Given the description of an element on the screen output the (x, y) to click on. 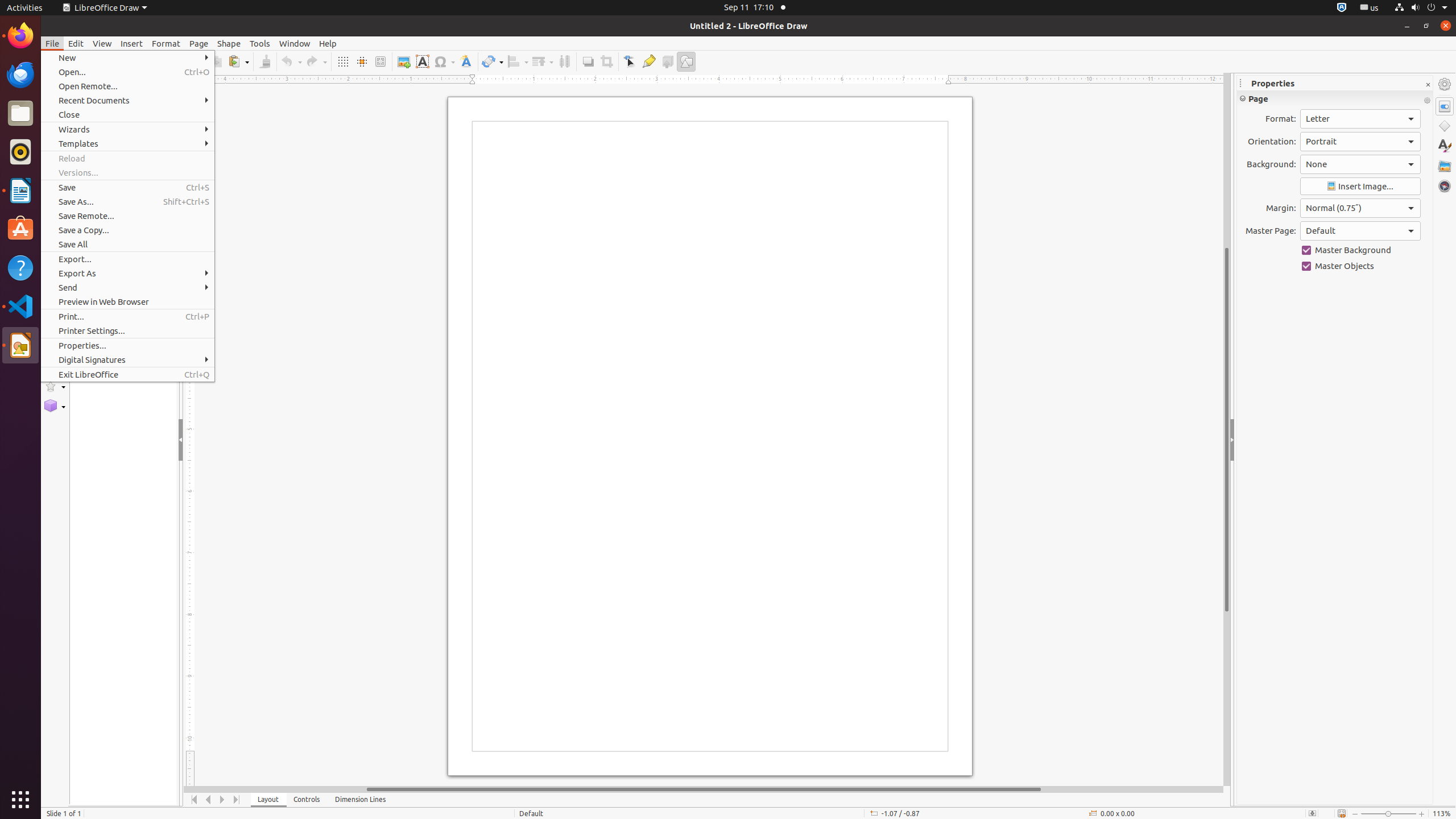
Ellipse Element type: push-button (53, 198)
Dimension Lines Element type: page-tab (360, 799)
Close Sidebar Deck Element type: push-button (1427, 84)
Text Box Element type: push-button (421, 61)
Redo Element type: push-button (315, 61)
